Given the description of an element on the screen output the (x, y) to click on. 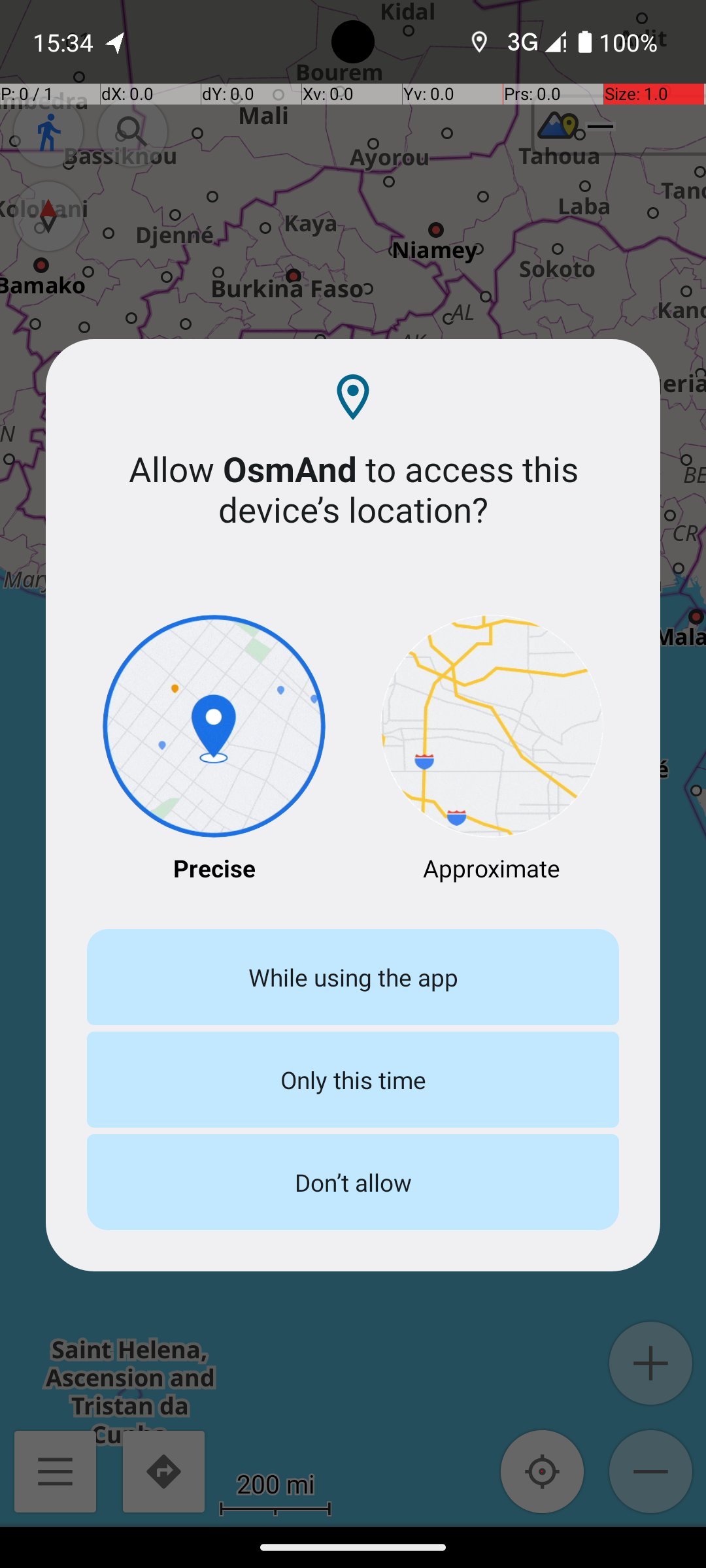
Allow OsmAnd to access this device’s location? Element type: android.widget.TextView (352, 488)
While using the app Element type: android.widget.Button (352, 977)
Only this time Element type: android.widget.Button (352, 1079)
Don’t allow Element type: android.widget.Button (352, 1182)
Precise Element type: android.widget.RadioButton (213, 749)
Approximate Element type: android.widget.RadioButton (491, 749)
